Given the description of an element on the screen output the (x, y) to click on. 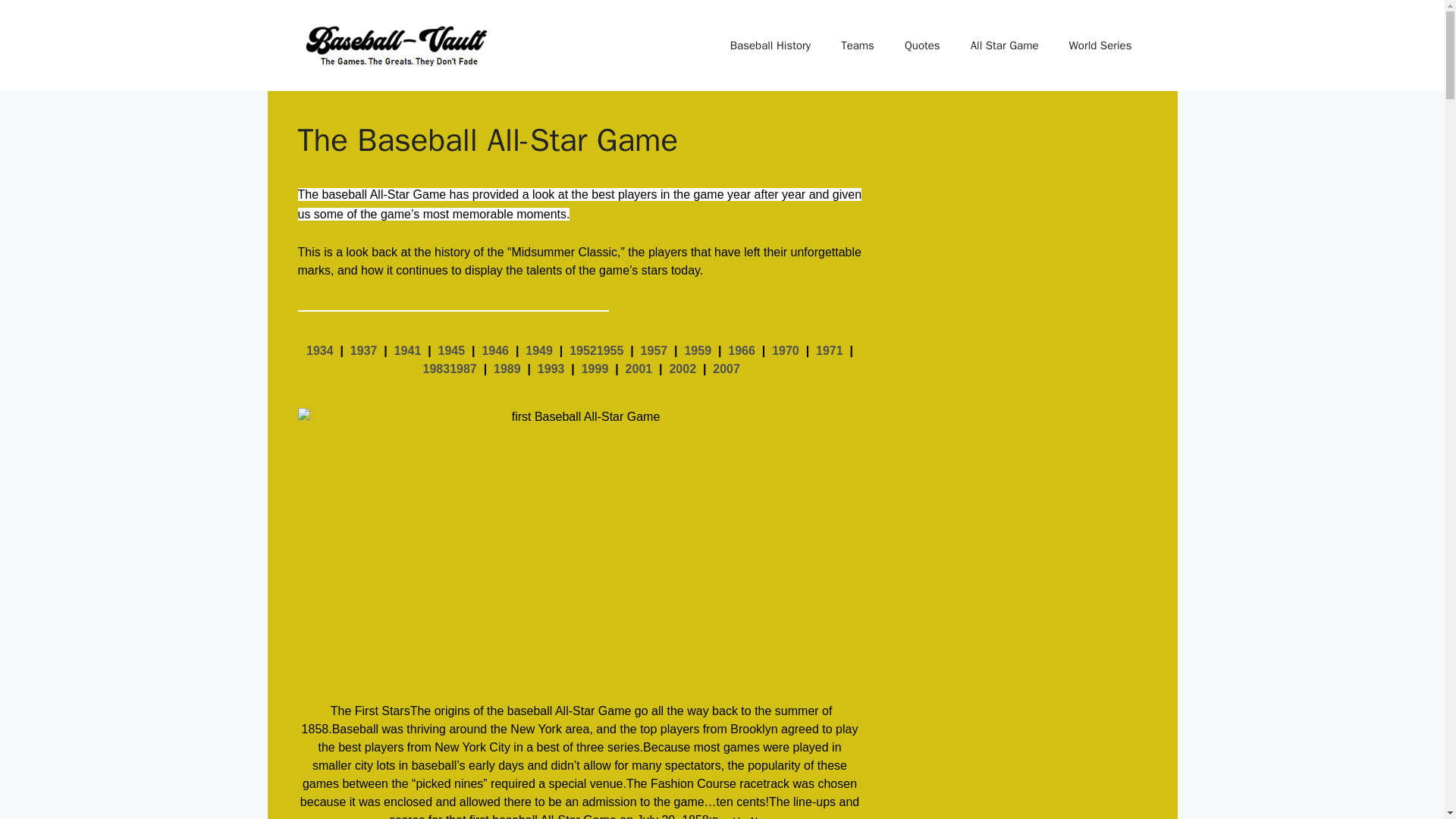
1945 (451, 350)
1966 (741, 350)
1983 (436, 368)
1971 (829, 350)
All Star Game (1004, 44)
1941 (408, 350)
1955 (610, 350)
Quotes (922, 44)
1946 (494, 350)
Teams (857, 44)
1970 (785, 350)
2007 (726, 368)
1959 (697, 350)
2002 (681, 368)
1949 (539, 350)
